Given the description of an element on the screen output the (x, y) to click on. 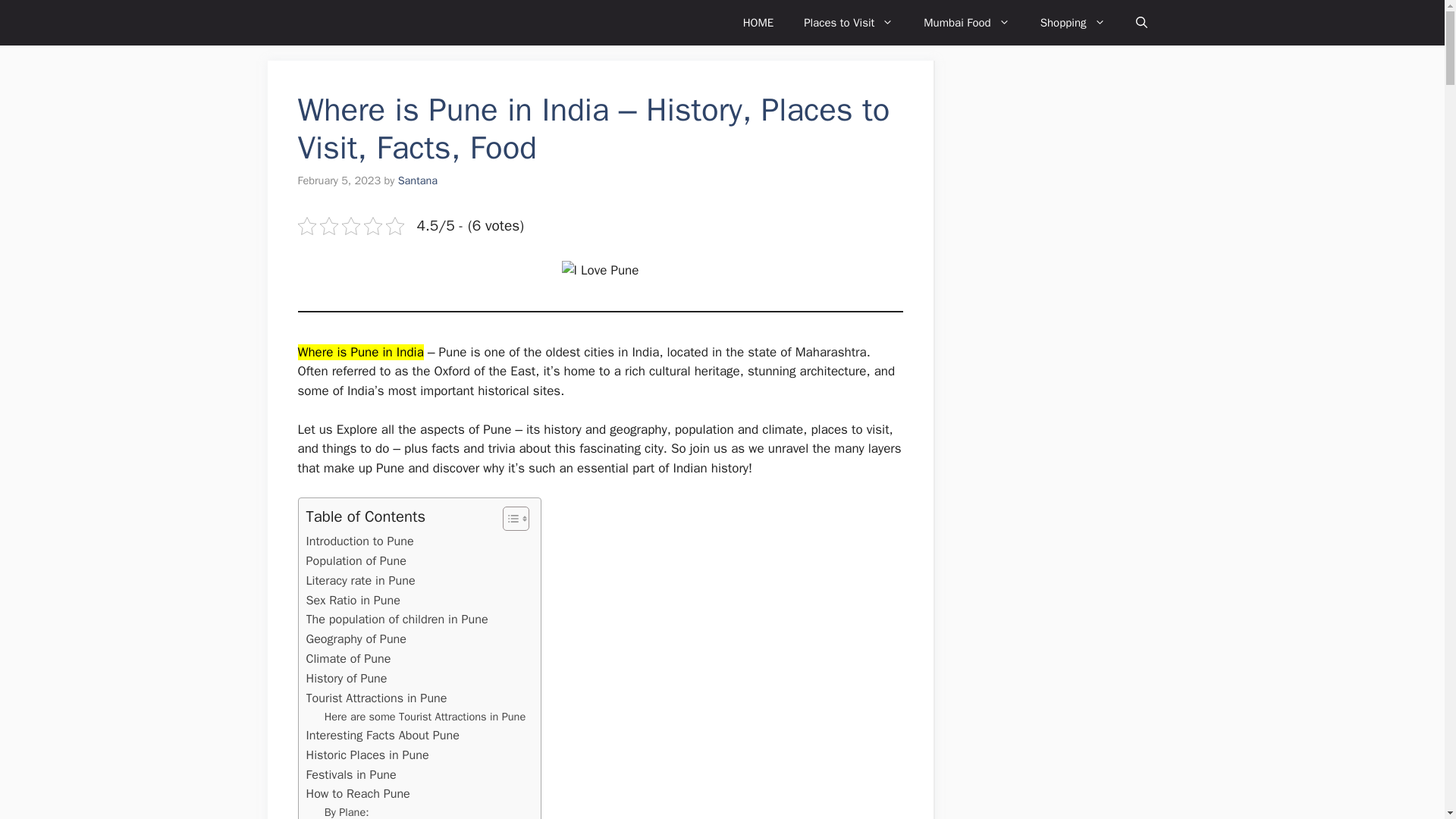
Geography of Pune (356, 639)
Introduction to Pune (359, 541)
Population of Pune (355, 560)
Places to Visit (848, 22)
The population of children in Pune (396, 619)
Climate of Pune (348, 659)
Sex Ratio in Pune (352, 599)
View all posts by Santana (417, 180)
Literacy rate in Pune (359, 580)
